Given the description of an element on the screen output the (x, y) to click on. 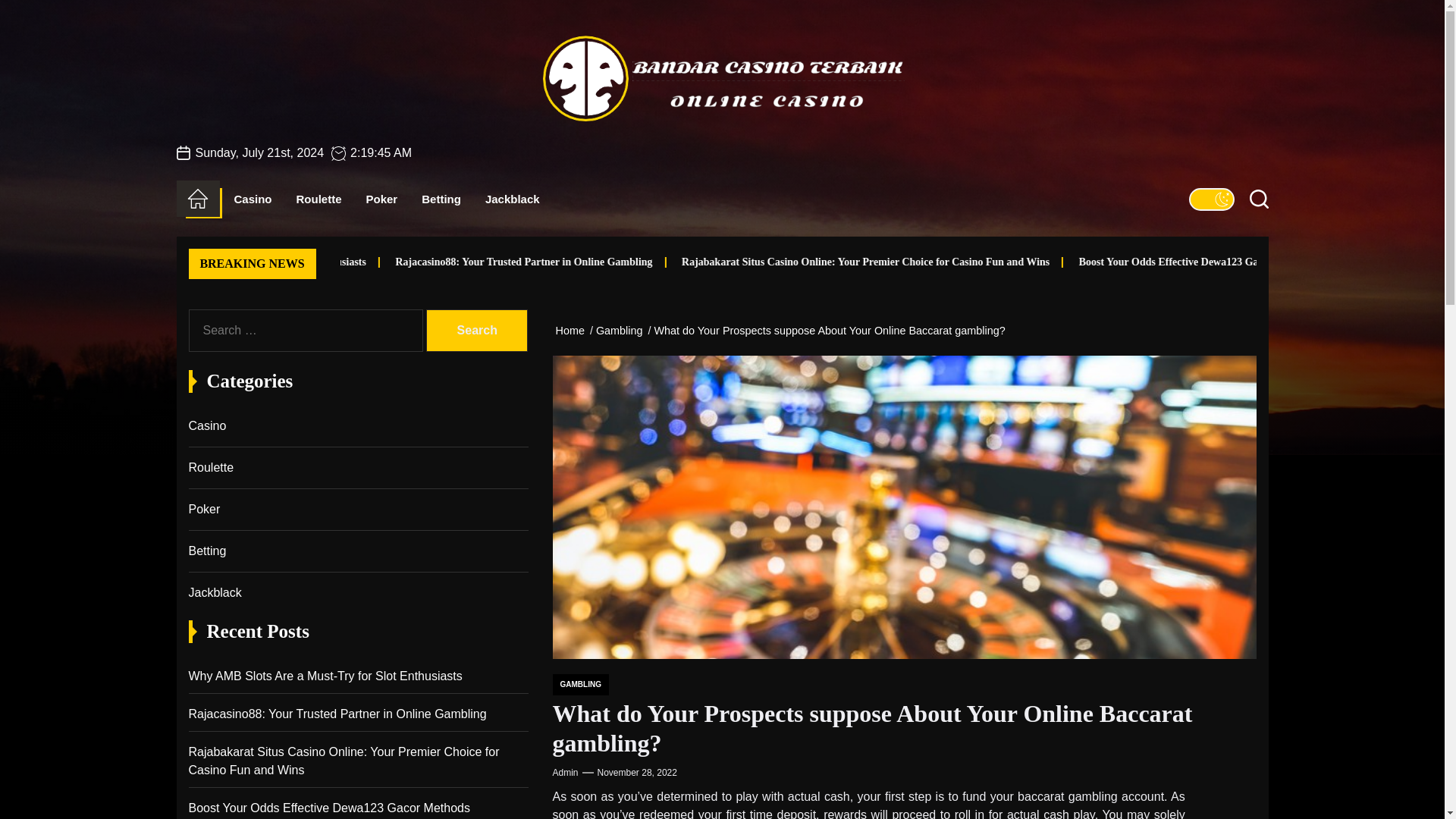
Rajacasino88: Your Trusted Partner in Online Gambling (704, 261)
GAMBLING (579, 684)
Boost Your Odds Effective Dewa123 Gacor Methods (1317, 261)
Why AMB Slots Are a Must-Try for Slot Enthusiasts (373, 261)
Roulette (319, 199)
November 28, 2022 (636, 772)
Search (476, 330)
Home (197, 198)
Rajacasino88: Your Trusted Partner in Online Gambling (648, 261)
Betting (441, 199)
Gambling (621, 330)
Admin (564, 772)
